Given the description of an element on the screen output the (x, y) to click on. 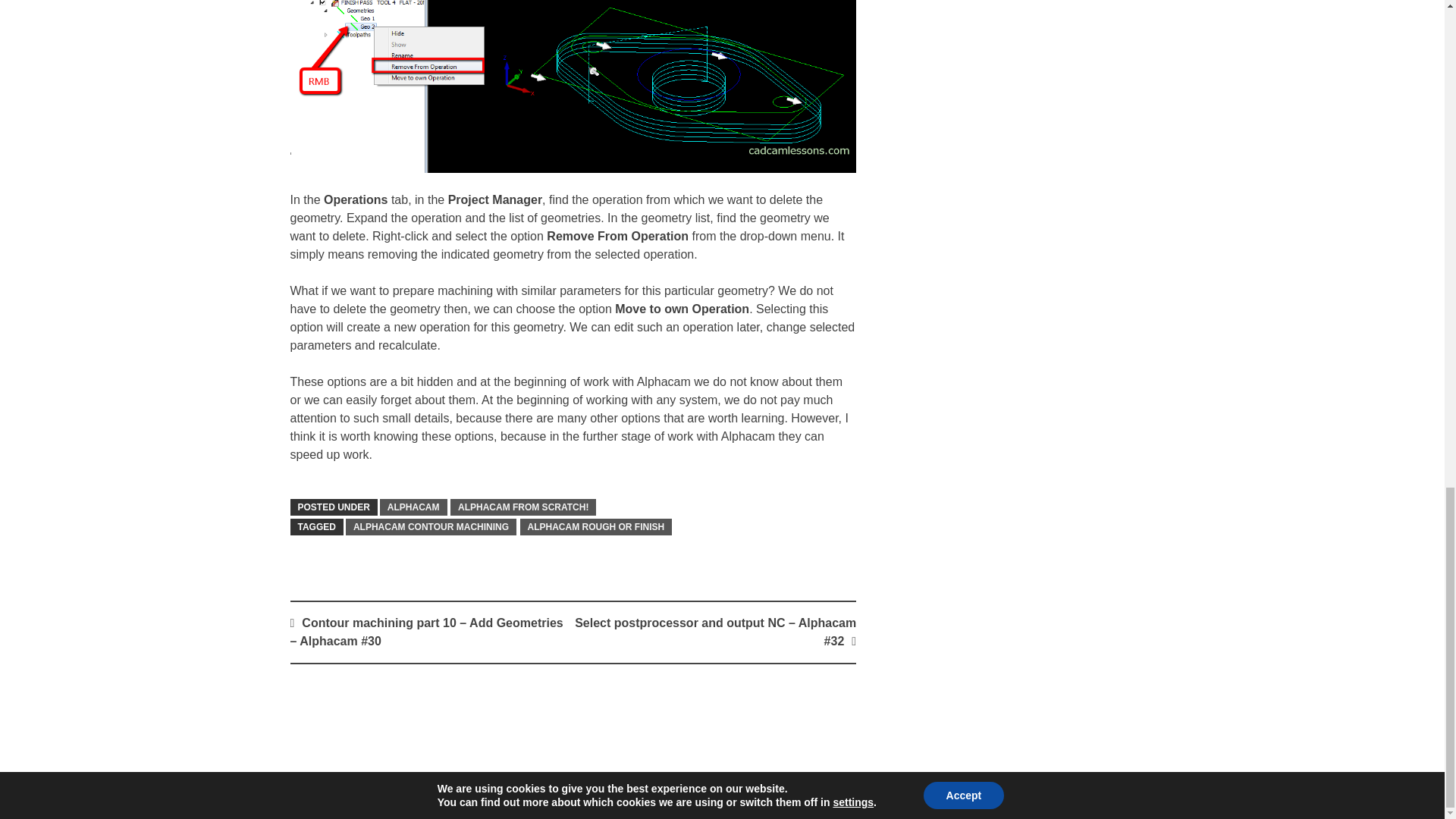
ALPHACAM CONTOUR MACHINING (431, 526)
ALPHACAM FROM SCRATCH! (522, 506)
WordPress (966, 799)
WordPress (966, 799)
cadcamlessons (412, 799)
ThemezHut (1123, 799)
ALPHACAM ROUGH OR FINISH (595, 526)
cadcamlessons (412, 799)
ALPHACAM (413, 506)
